Given the description of an element on the screen output the (x, y) to click on. 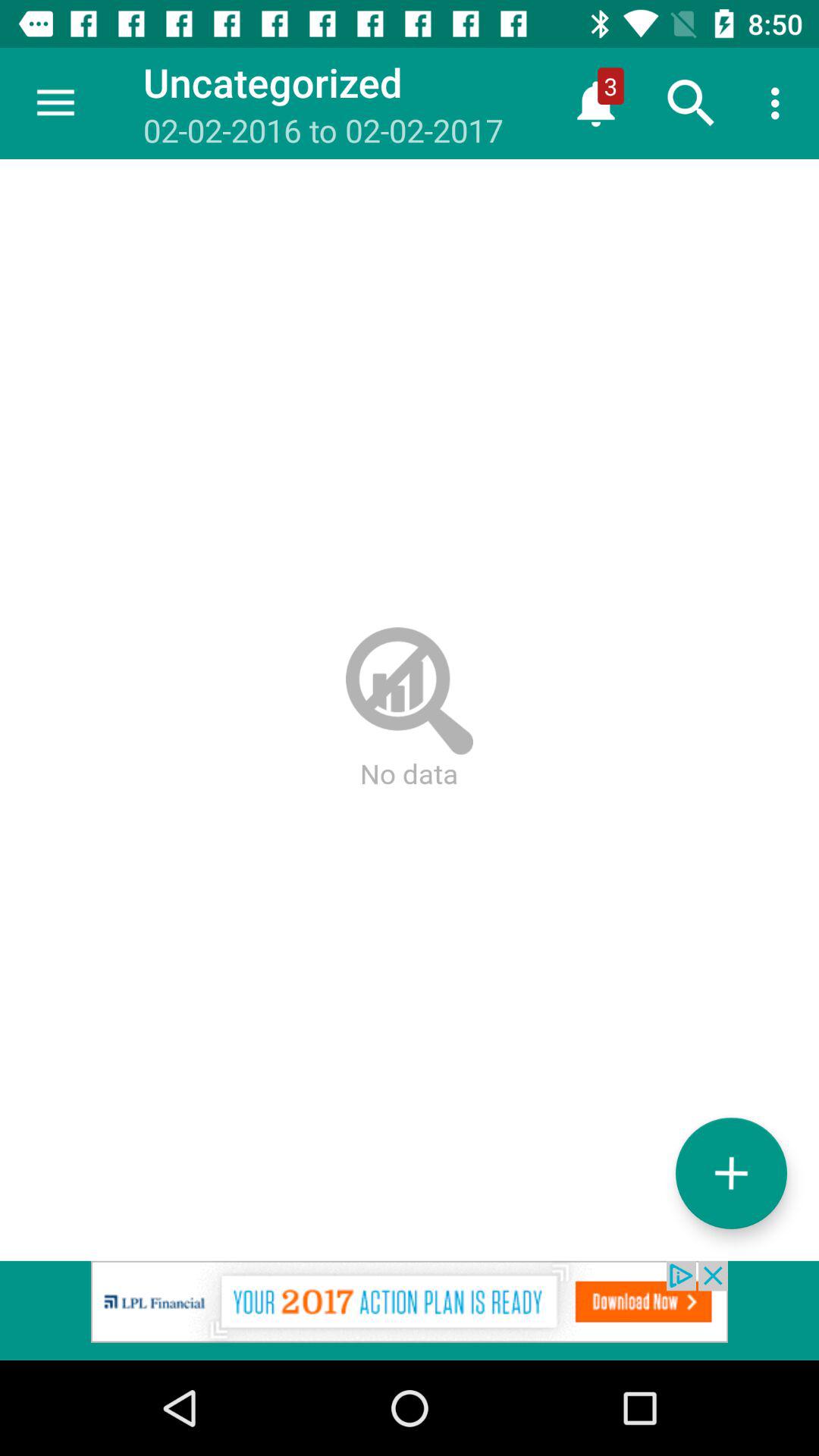
click to more option (731, 1173)
